Given the description of an element on the screen output the (x, y) to click on. 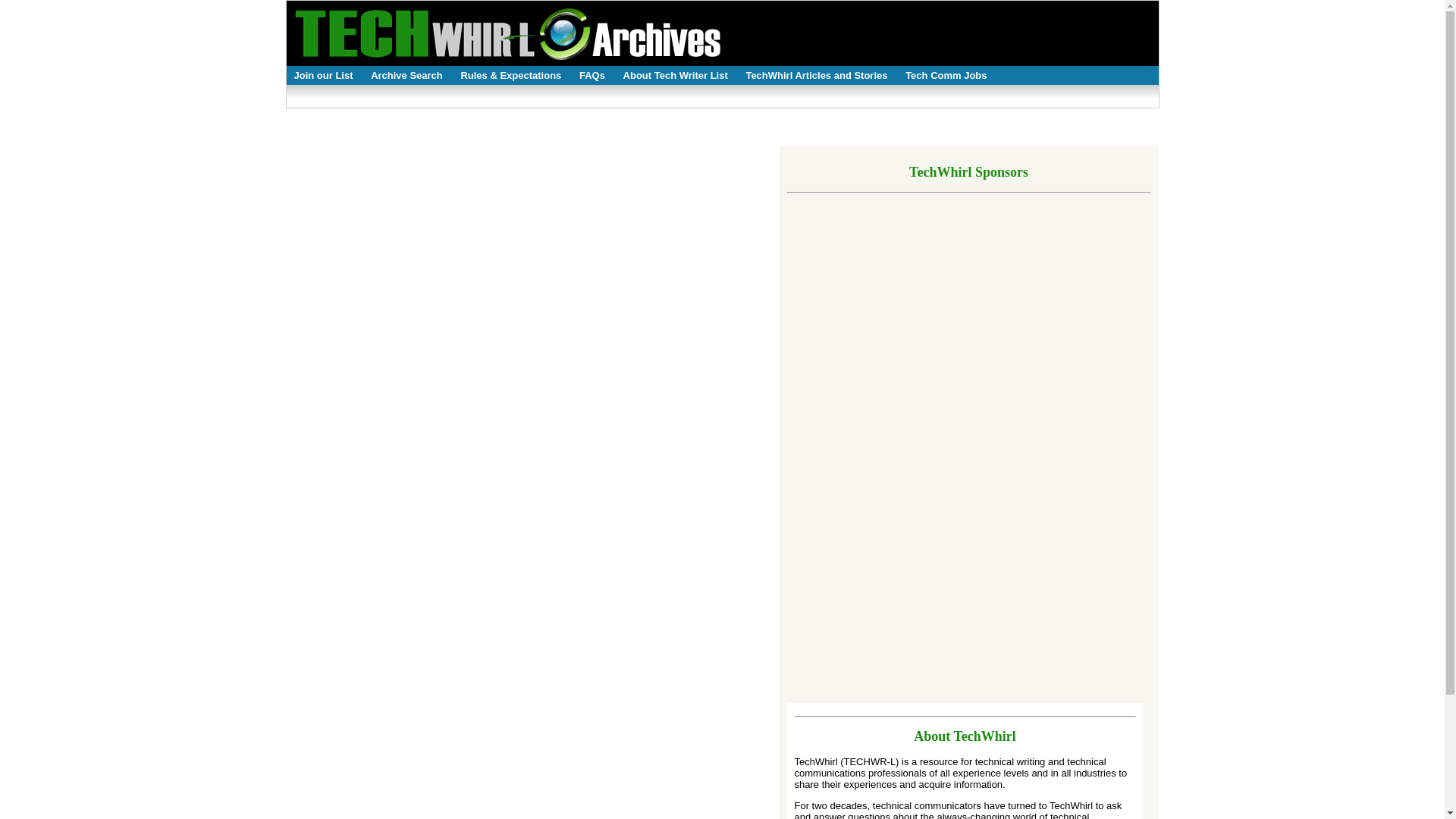
Archive Search (405, 78)
3rd party ad content (1054, 410)
TechWhirl Articles and Stories (816, 78)
Tech Comm Jobs (946, 78)
3rd party ad content (839, 410)
Join our List (323, 78)
About Tech Writer List (675, 78)
FAQs (592, 78)
